Given the description of an element on the screen output the (x, y) to click on. 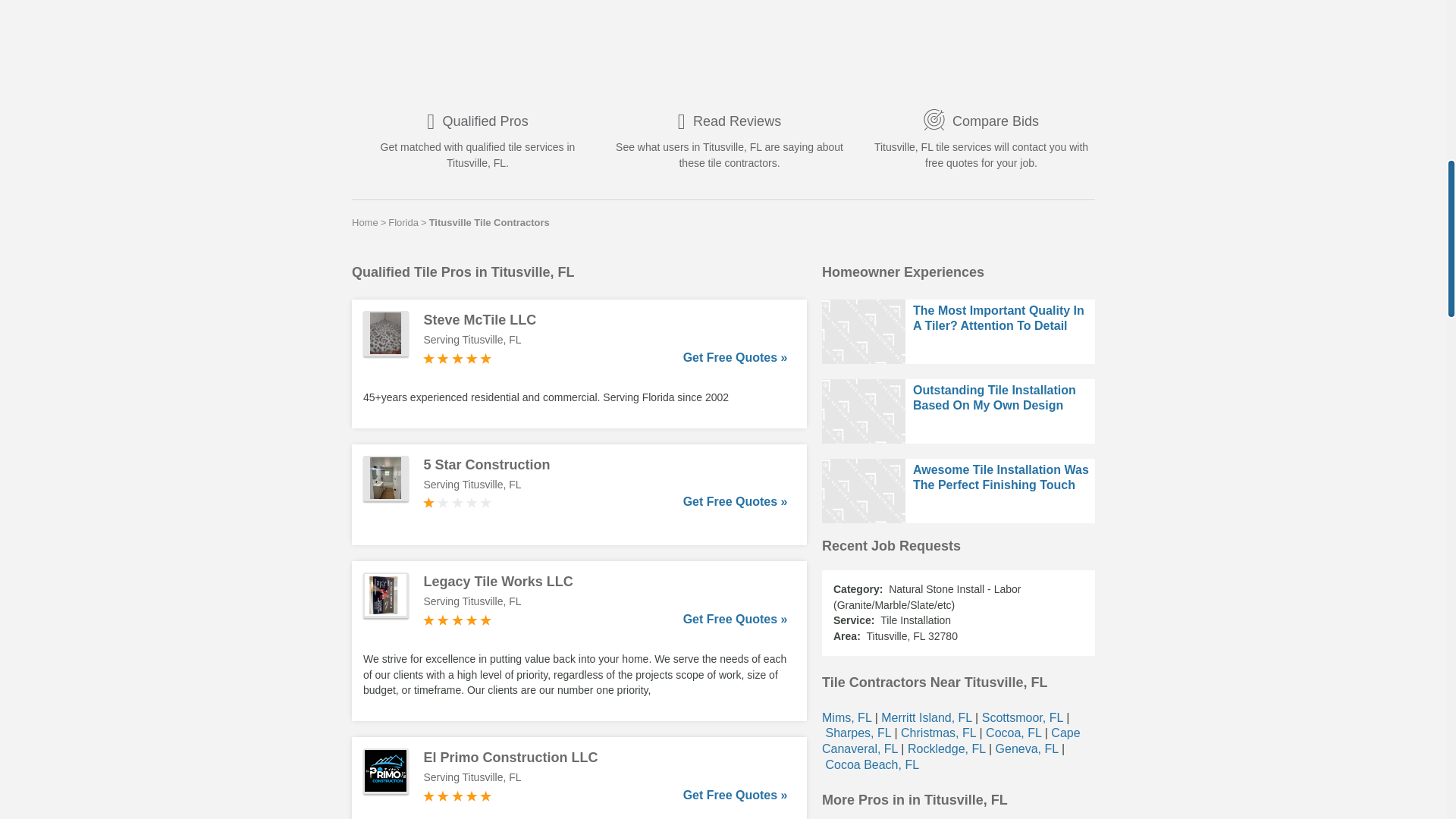
Steve McTile LLC (605, 320)
Home (365, 222)
1 star rating (457, 502)
5 star rating (457, 796)
Florida (403, 222)
5 star rating (457, 620)
5 star rating (457, 358)
